Given the description of an element on the screen output the (x, y) to click on. 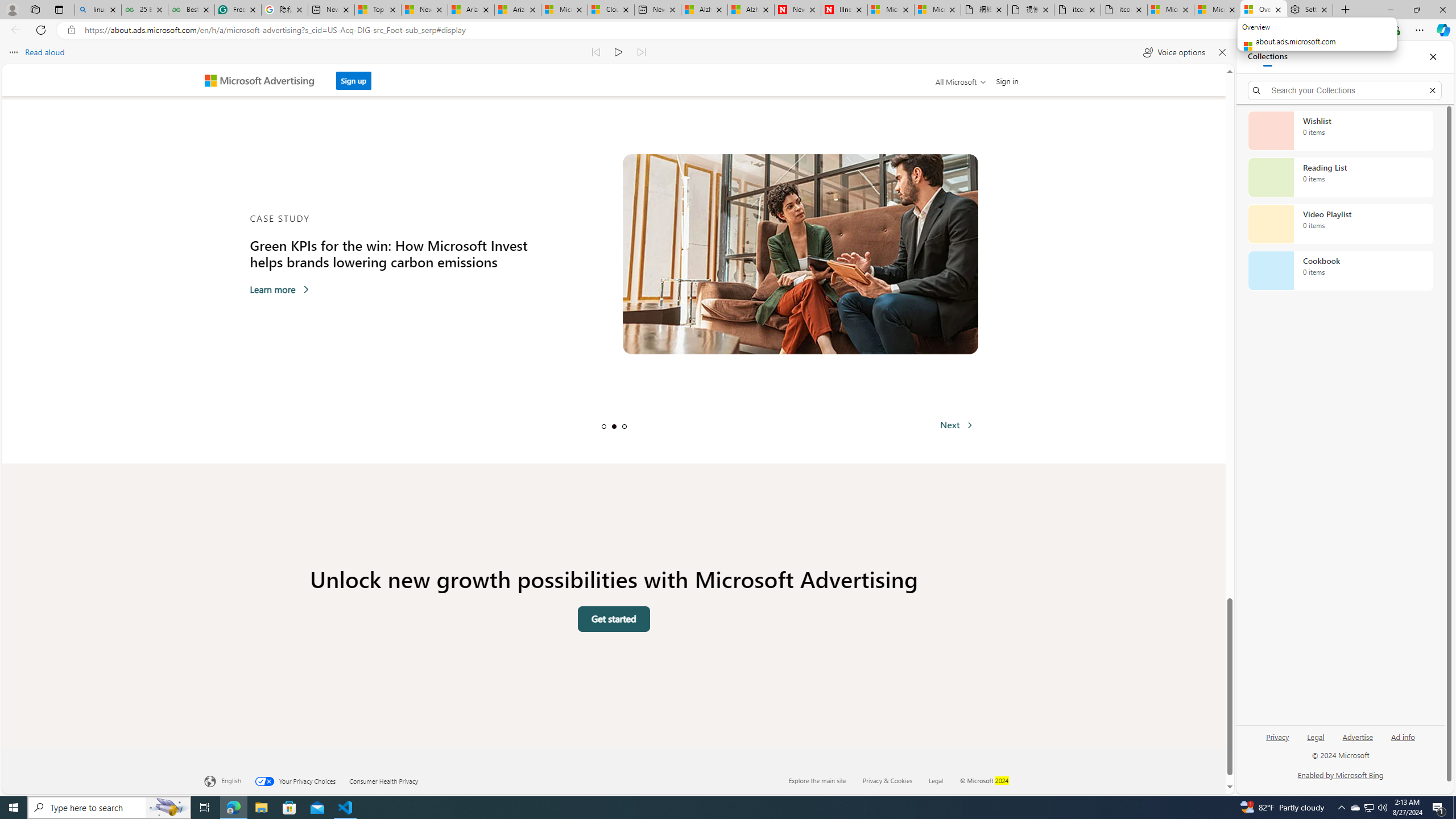
Your Privacy Choices Opt-Out Icon (266, 781)
News - MSN (424, 9)
Shopping in Microsoft Edge (1268, 29)
Wishlist collection, 0 items (1339, 130)
Reading List collection, 0 items (1339, 177)
25 Basic Linux Commands For Beginners - GeeksforGeeks (144, 9)
Your Privacy Choices Opt-Out Icon Your Privacy Choices (301, 779)
Slide 2 (614, 426)
